Given the description of an element on the screen output the (x, y) to click on. 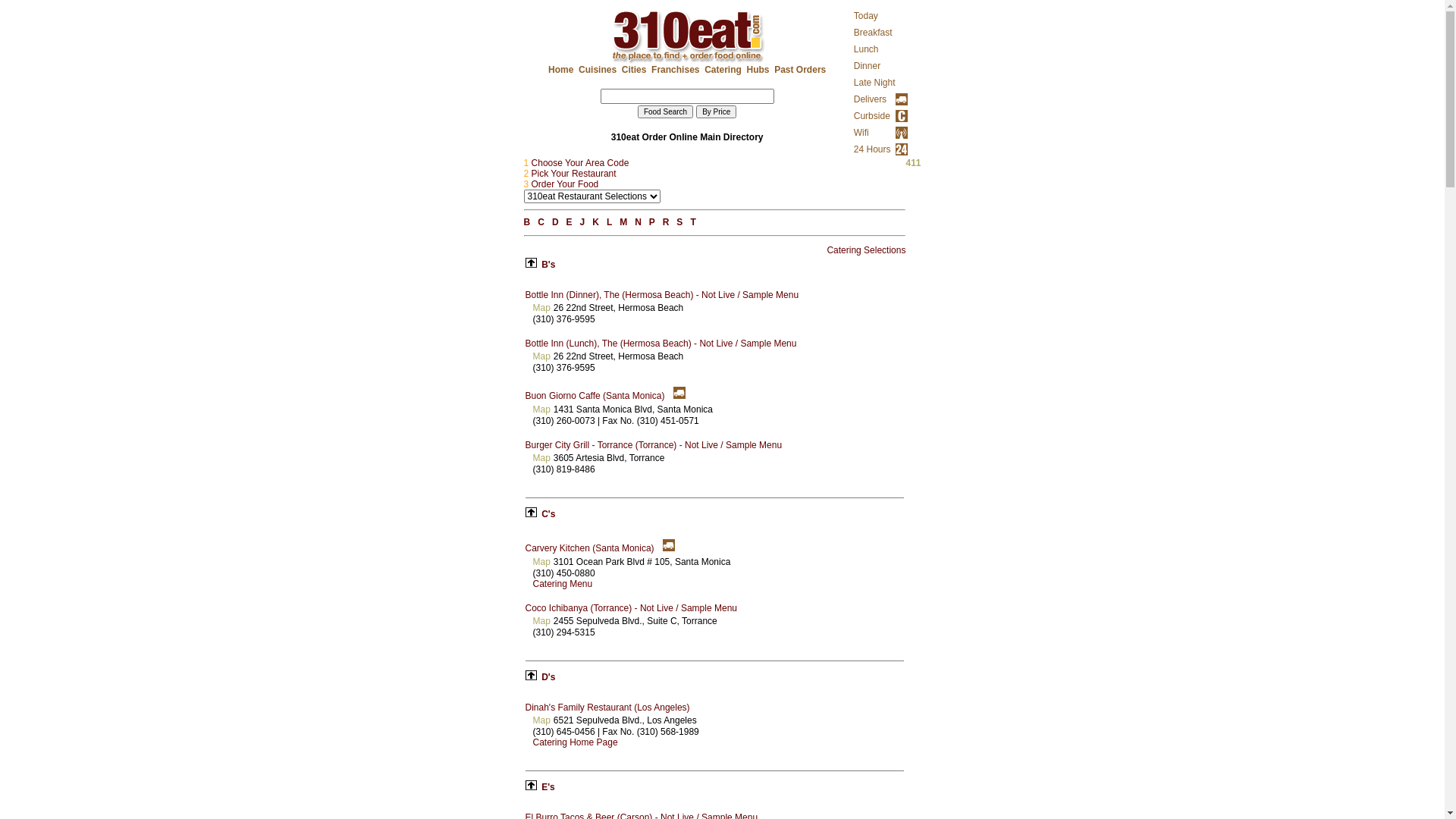
Franchises Element type: text (675, 69)
C Element type: text (540, 221)
Dinner Element type: text (866, 65)
Map Element type: text (540, 356)
By Price Element type: text (716, 111)
Map Element type: text (540, 409)
Delivers Element type: text (869, 99)
Map Element type: text (540, 457)
N Element type: text (637, 221)
K Element type: text (595, 221)
L Element type: text (608, 221)
Catering Element type: text (722, 69)
R Element type: text (665, 221)
E Element type: text (569, 221)
D Element type: text (555, 221)
 B's Element type: text (547, 264)
B Element type: text (527, 221)
411 Element type: text (912, 162)
Food Search Element type: text (665, 111)
Catering Home Page Element type: text (574, 742)
Carvery Kitchen (Santa Monica) Element type: text (590, 547)
Breakfast Element type: text (872, 32)
 C's Element type: text (547, 513)
Map Element type: text (540, 307)
S Element type: text (679, 221)
Hubs Element type: text (757, 69)
T Element type: text (692, 221)
Catering Menu Element type: text (562, 583)
Coco Ichibanya (Torrance) - Not Live / Sample Menu Element type: text (631, 607)
Map Element type: text (540, 620)
Past Orders Element type: text (799, 69)
 D's Element type: text (547, 676)
Map Element type: text (540, 561)
Today Element type: text (865, 15)
Lunch Element type: text (865, 48)
 E's Element type: text (547, 786)
Catering Selections Element type: text (865, 249)
Home Element type: text (560, 69)
Cuisines Element type: text (597, 69)
P Element type: text (652, 221)
Late Night Element type: text (874, 82)
Buon Giorno Caffe (Santa Monica) Element type: text (596, 395)
J Element type: text (582, 221)
Dinah's Family Restaurant (Los Angeles) Element type: text (607, 707)
24 Hours Element type: text (872, 149)
M Element type: text (623, 221)
Wifi Element type: text (861, 132)
Cities Element type: text (633, 69)
Map Element type: text (540, 720)
Curbside Element type: text (871, 115)
